Given the description of an element on the screen output the (x, y) to click on. 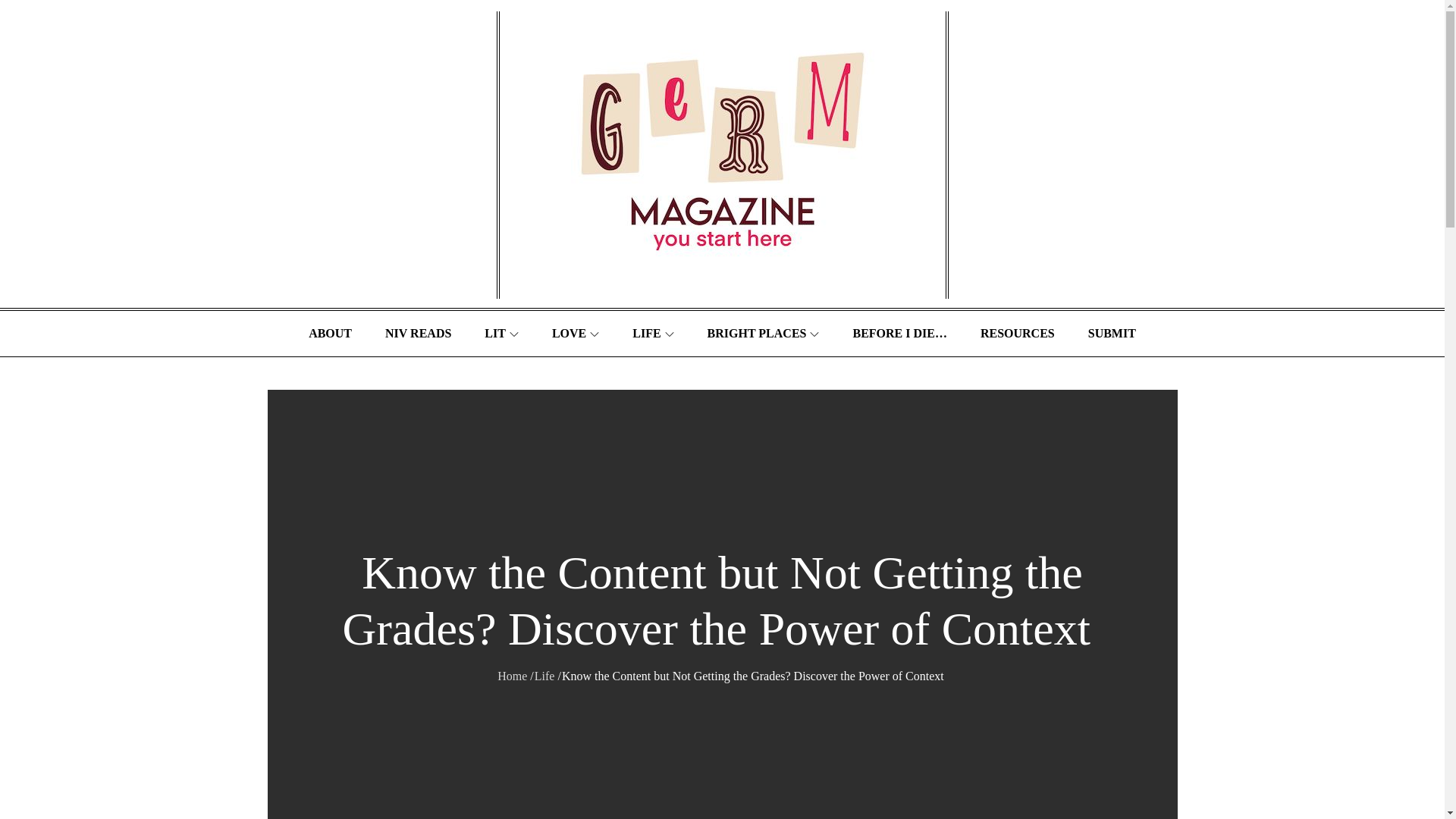
ABOUT (330, 333)
LIFE (652, 333)
NIV READS (417, 333)
BRIGHT PLACES (763, 333)
LOVE (575, 333)
LIT (501, 333)
